Given the description of an element on the screen output the (x, y) to click on. 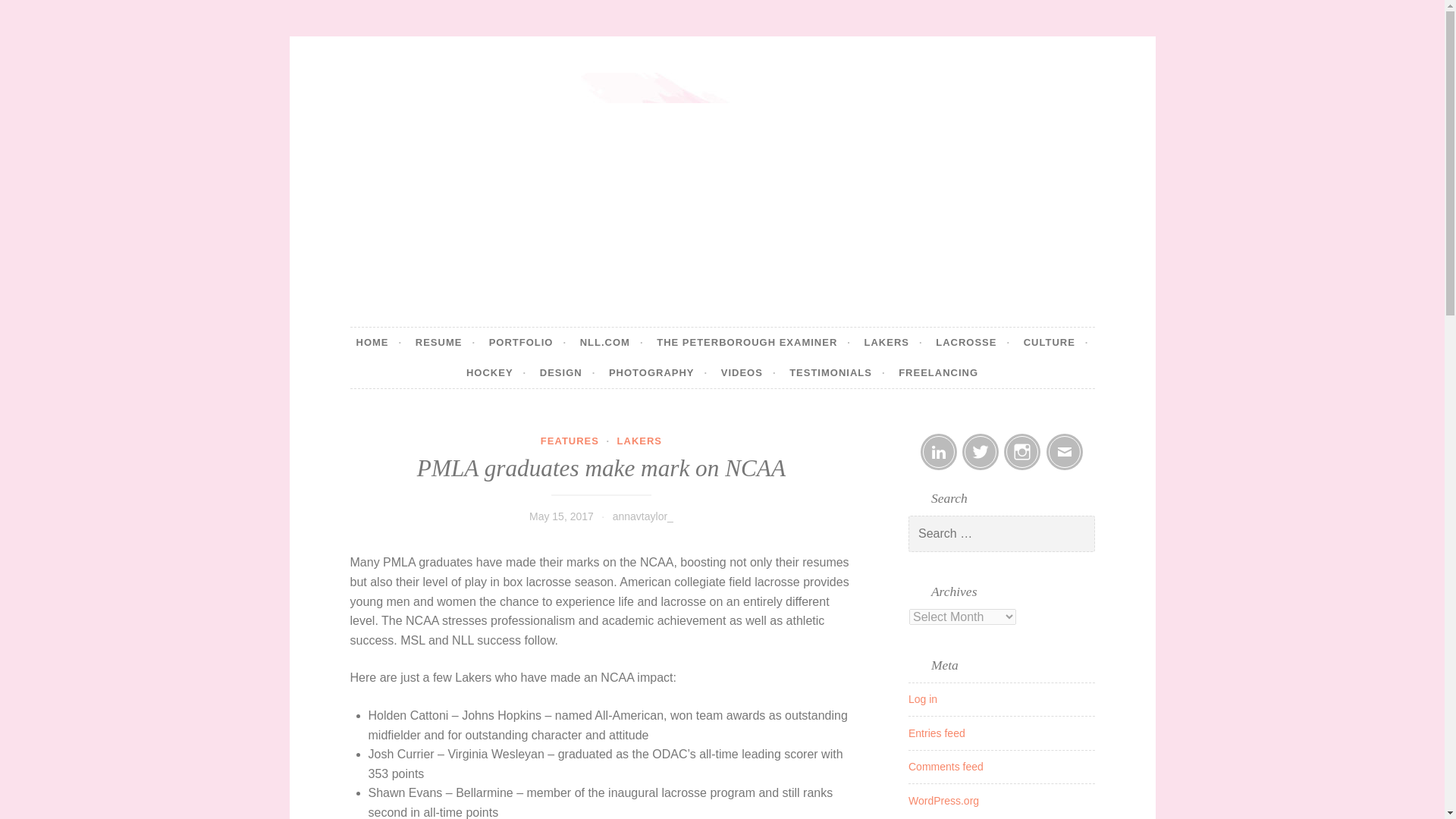
Linked In (938, 452)
LAKERS (639, 440)
CULTURE (1056, 342)
HOME (379, 342)
May 15, 2017 (561, 516)
Log in (922, 698)
PHOTOGRAPHY (657, 372)
WordPress.org (943, 800)
LACROSSE (973, 342)
